Given the description of an element on the screen output the (x, y) to click on. 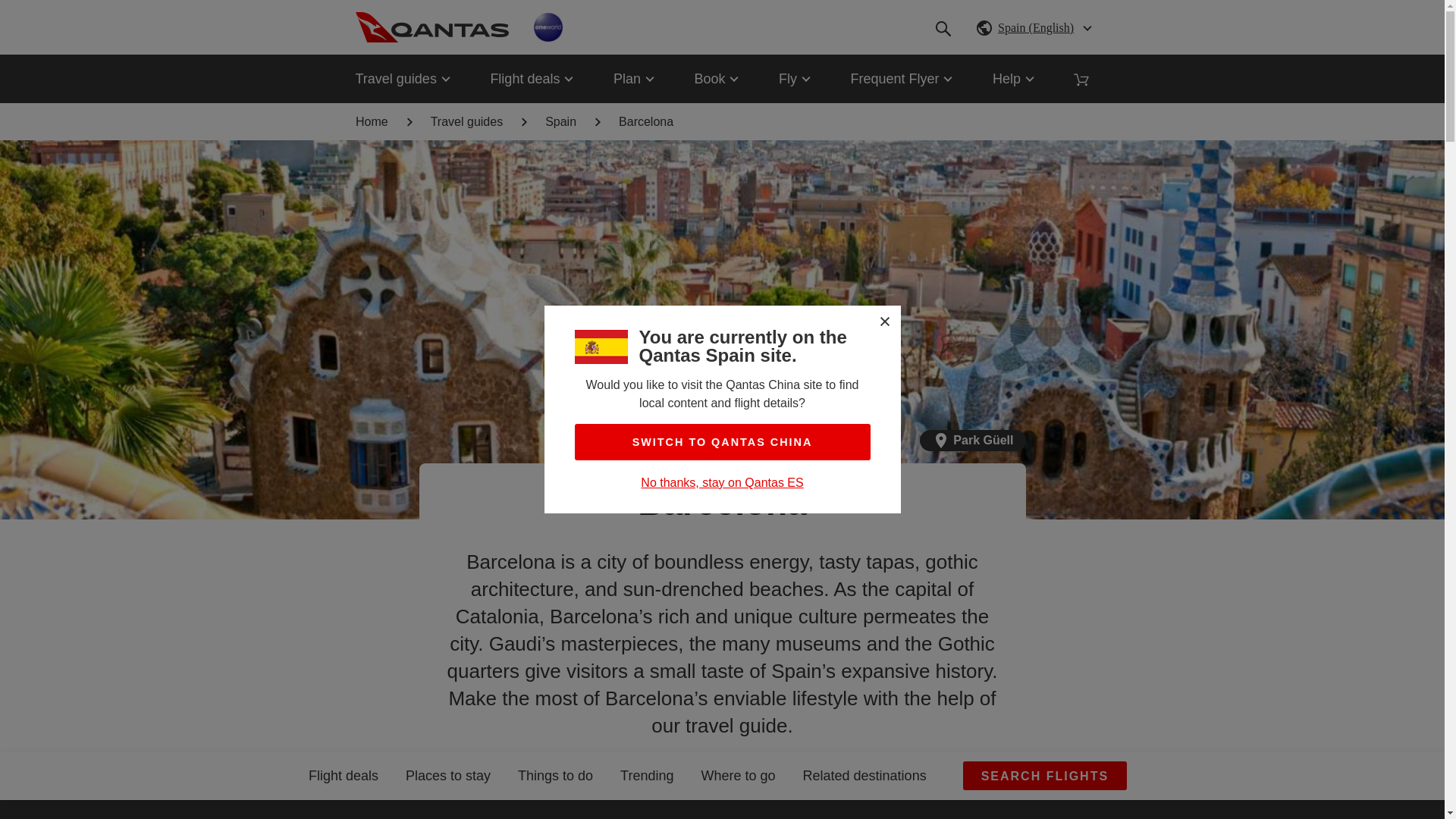
Shopping CartCreated with Sketch. (1081, 78)
